Given the description of an element on the screen output the (x, y) to click on. 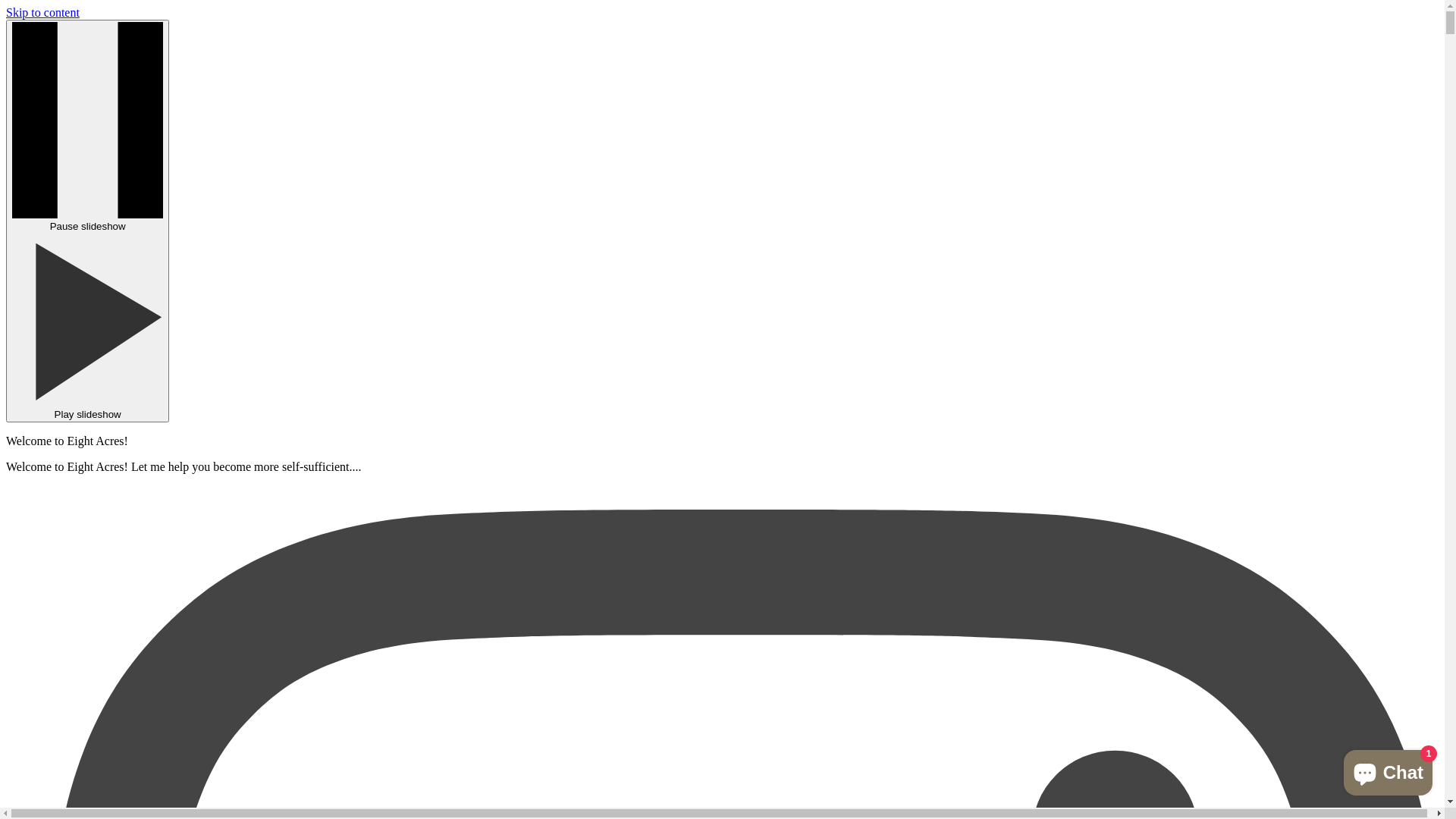
Skip to content Element type: text (42, 12)
Pause slideshow Play slideshow Element type: text (87, 220)
Shopify online store chat Element type: hover (1388, 769)
